Given the description of an element on the screen output the (x, y) to click on. 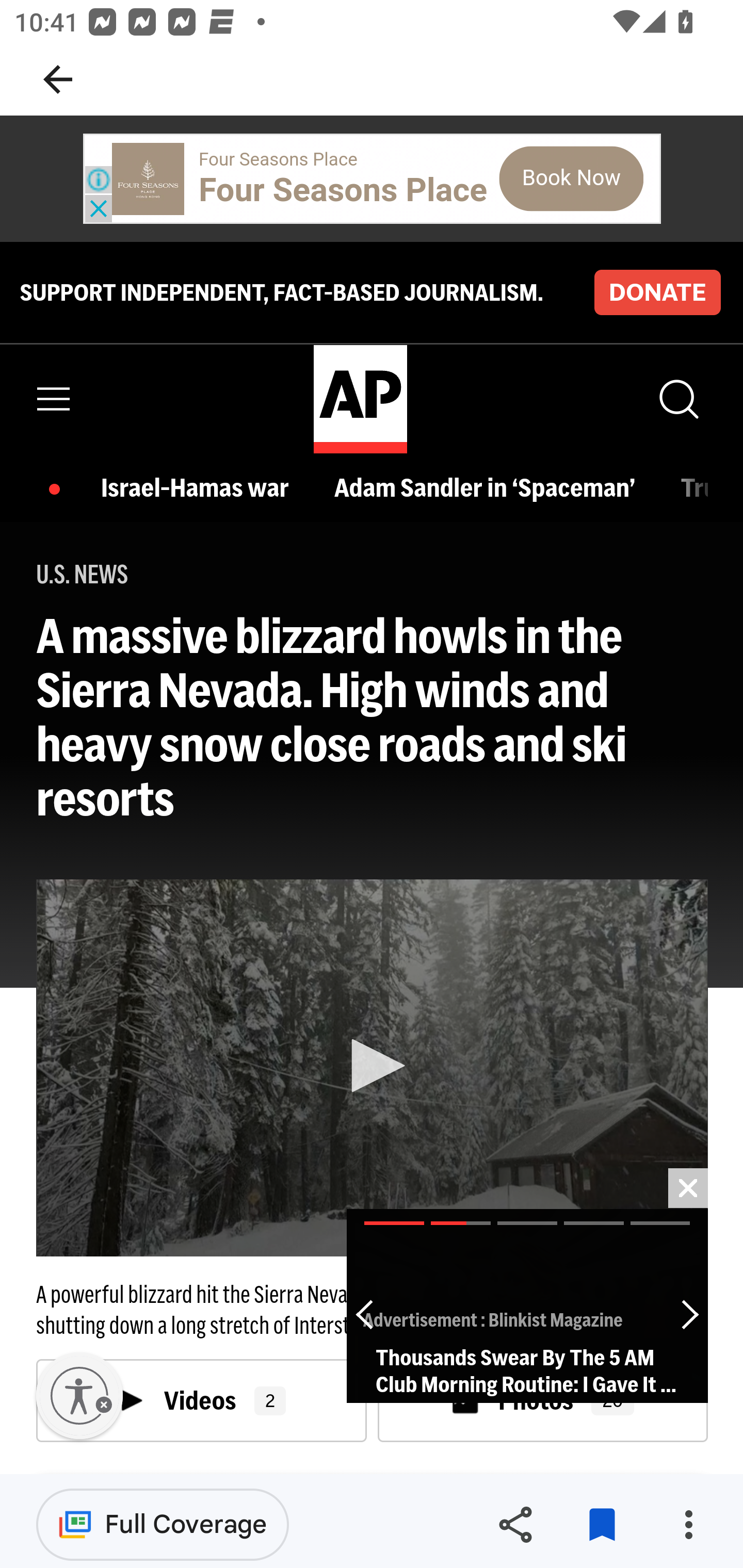
Navigate up (57, 79)
Book Now (571, 178)
Four Seasons Place (278, 158)
Four Seasons Place (342, 190)
DONATE (657, 291)
home page AP Logo (359, 398)
Menu (54, 398)
Show Search (677, 398)
Israel-Hamas war (200, 487)
Adam Sandler in ‘Spaceman’ (489, 487)
U.S. NEWS (83, 574)
Unable to play media. (372, 1067)
Play (372, 1066)
Enable accessibility (79, 1395)
Share (514, 1524)
Remove from saved stories (601, 1524)
More options (688, 1524)
Full Coverage (162, 1524)
